Given the description of an element on the screen output the (x, y) to click on. 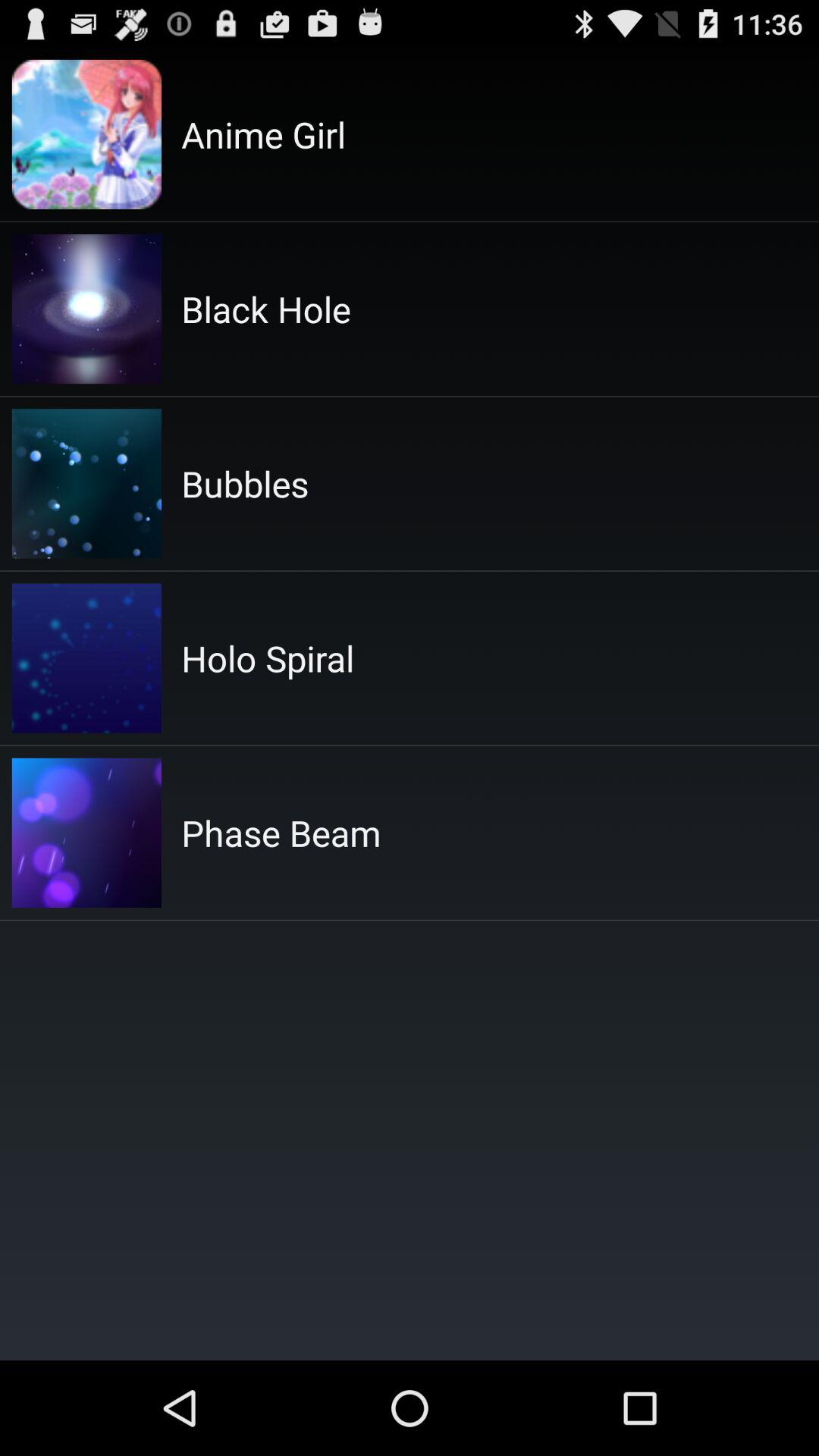
flip until the holo spiral app (267, 658)
